Given the description of an element on the screen output the (x, y) to click on. 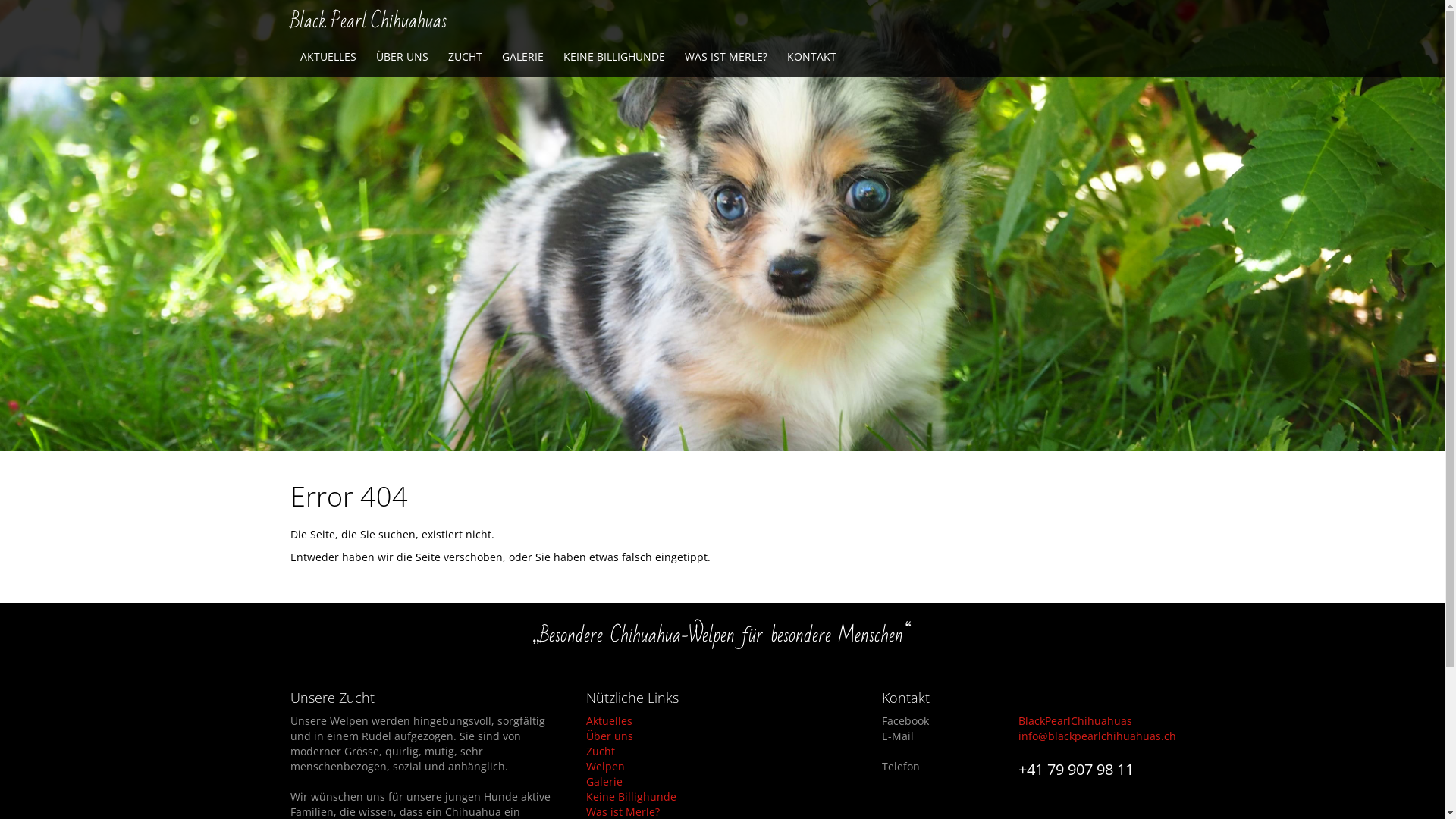
AKTUELLES Element type: text (327, 56)
Welpen Element type: text (721, 766)
BlackPearlChihuahuas Element type: text (1074, 720)
Keine Billighunde Element type: text (721, 796)
Aktuelles Element type: text (721, 720)
GALERIE Element type: text (521, 56)
WAS IST MERLE? Element type: text (725, 56)
KONTAKT Element type: text (810, 56)
Black Pearl Chihuahuas Element type: text (376, 18)
ZUCHT Element type: text (465, 56)
KEINE BILLIGHUNDE Element type: text (613, 56)
Zucht Element type: text (721, 751)
info@blackpearlchihuahuas.ch Element type: text (1096, 735)
Galerie Element type: text (721, 781)
+41 79 907 98 11 Element type: text (1074, 769)
